Given the description of an element on the screen output the (x, y) to click on. 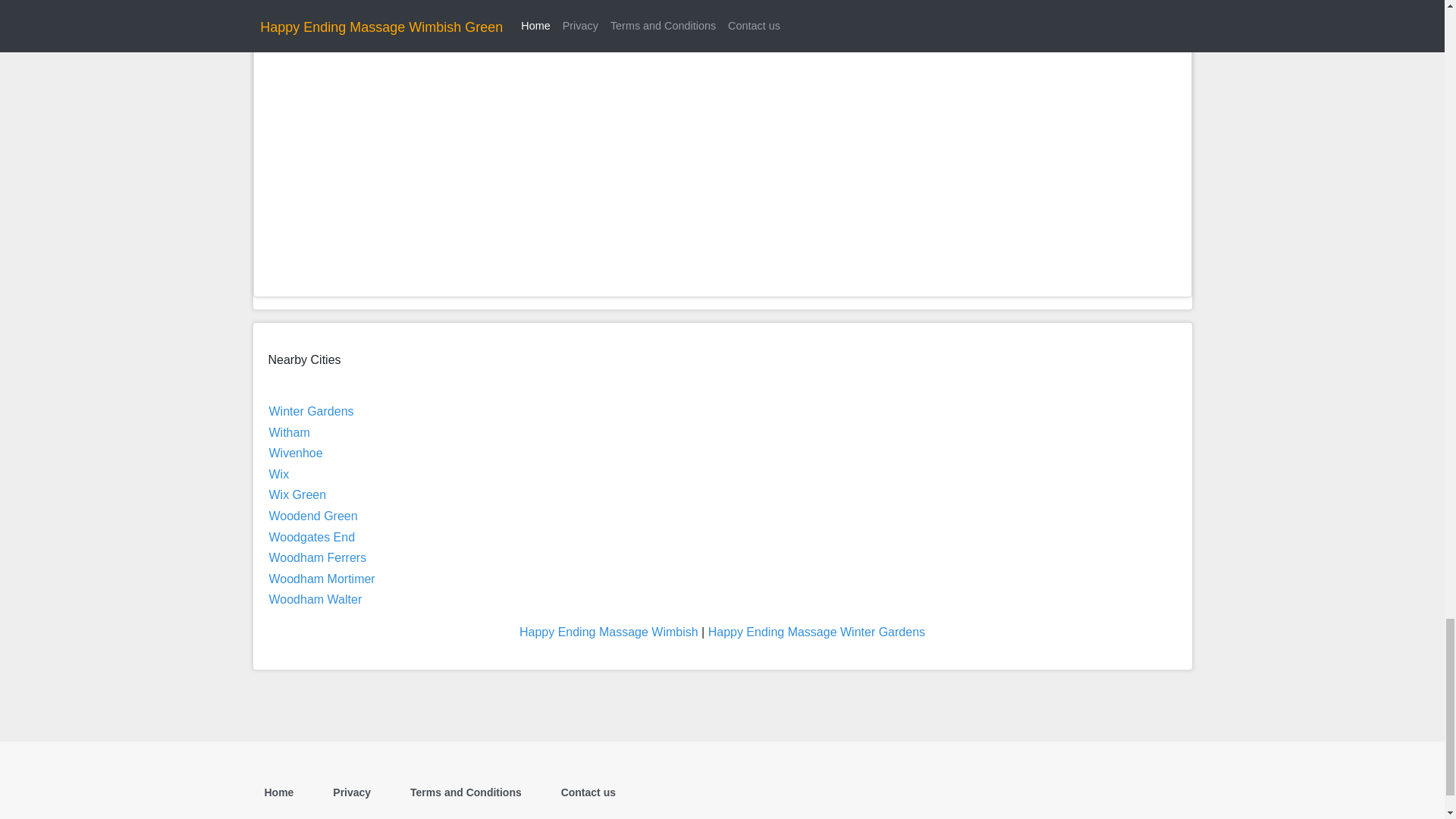
Woodham Mortimer (320, 578)
Woodgates End (311, 536)
Winter Gardens (310, 410)
Witham (287, 431)
Woodham Walter (314, 599)
Happy Ending Massage Winter Gardens (815, 631)
Happy Ending Massage Wimbish (608, 631)
Wix (277, 473)
Wix Green (296, 494)
Woodham Ferrers (316, 557)
Wivenhoe (294, 452)
Woodend Green (311, 515)
